Given the description of an element on the screen output the (x, y) to click on. 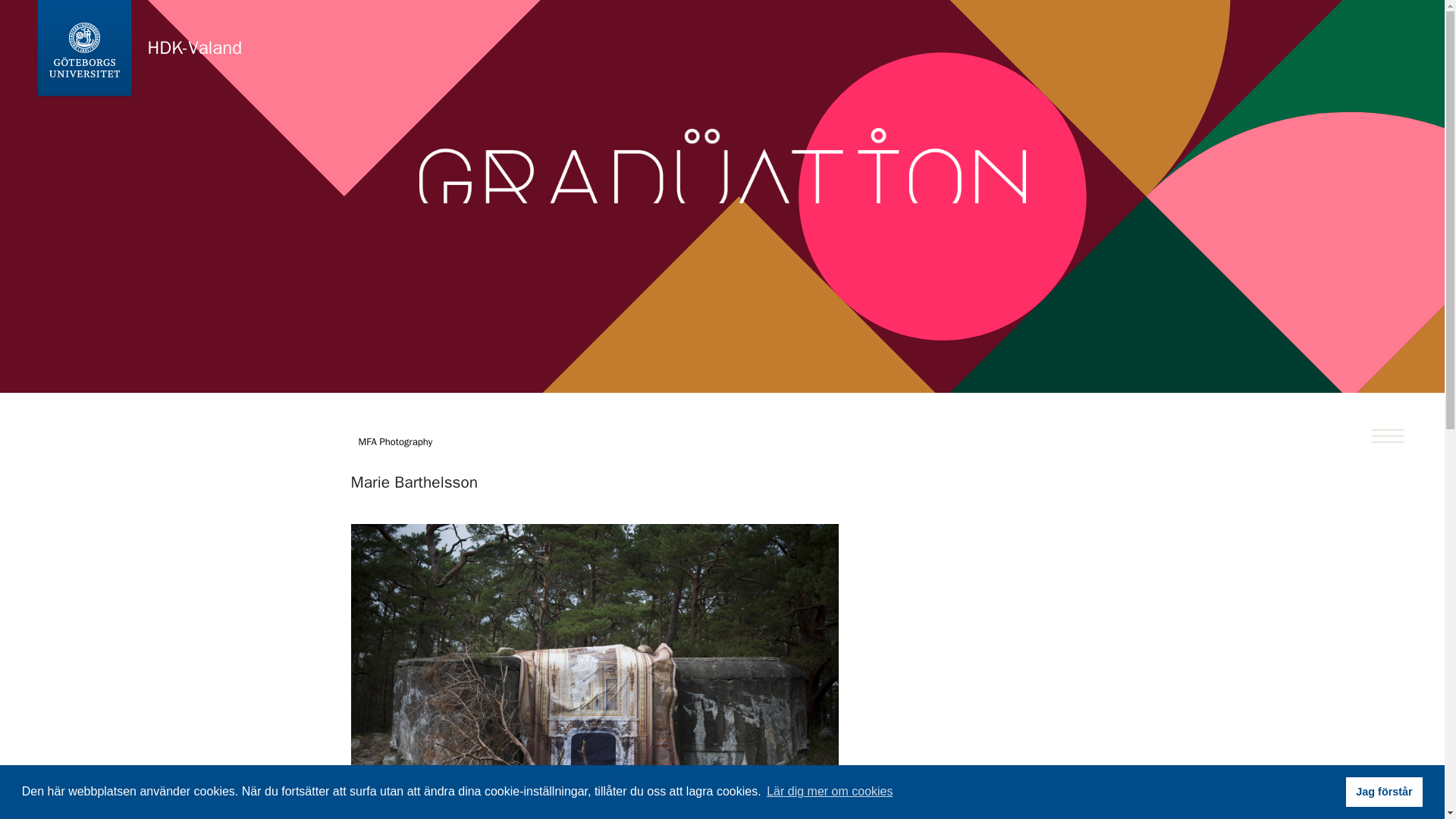
headline-graphic (722, 221)
